Given the description of an element on the screen output the (x, y) to click on. 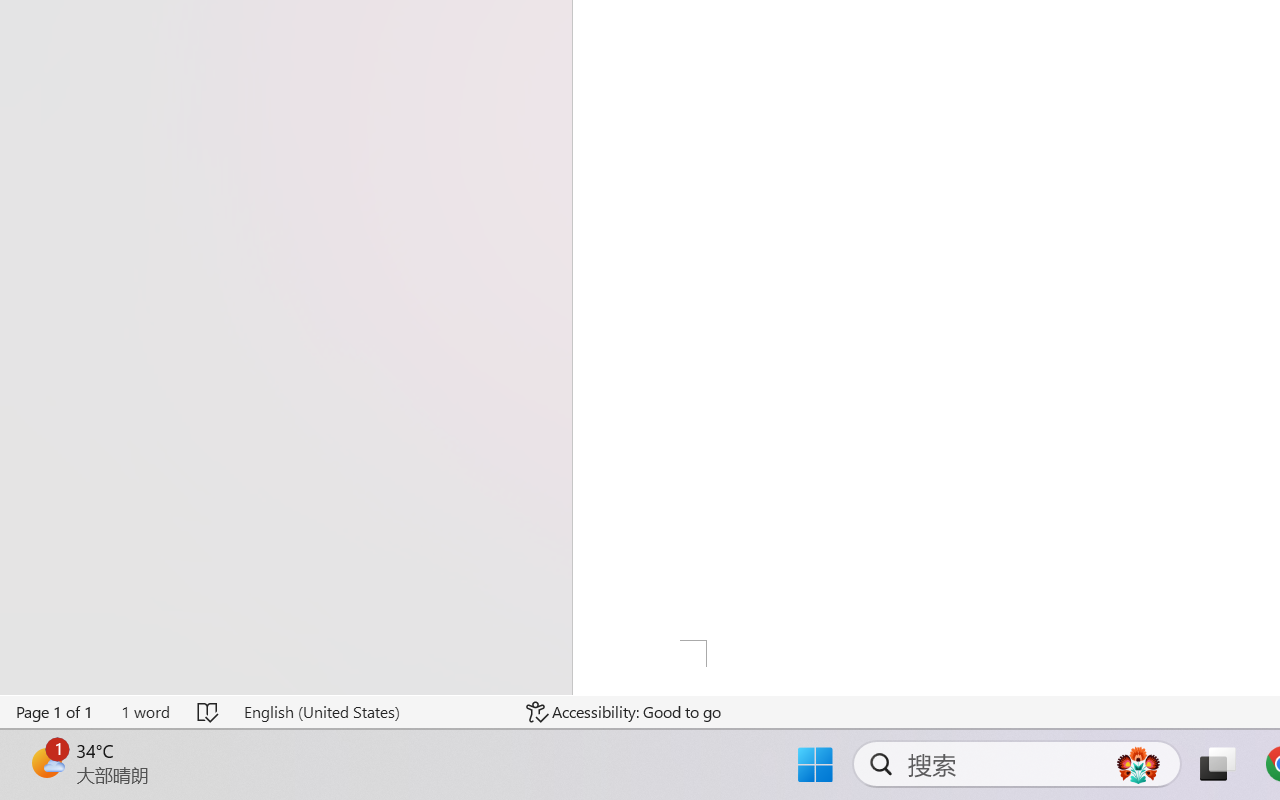
AutomationID: DynamicSearchBoxGleamImage (1138, 764)
Spelling and Grammar Check No Errors (208, 712)
Accessibility Checker Accessibility: Good to go (623, 712)
Language English (United States) (370, 712)
Word Count 1 word (145, 712)
Page Number Page 1 of 1 (55, 712)
AutomationID: BadgeAnchorLargeTicker (46, 762)
